Given the description of an element on the screen output the (x, y) to click on. 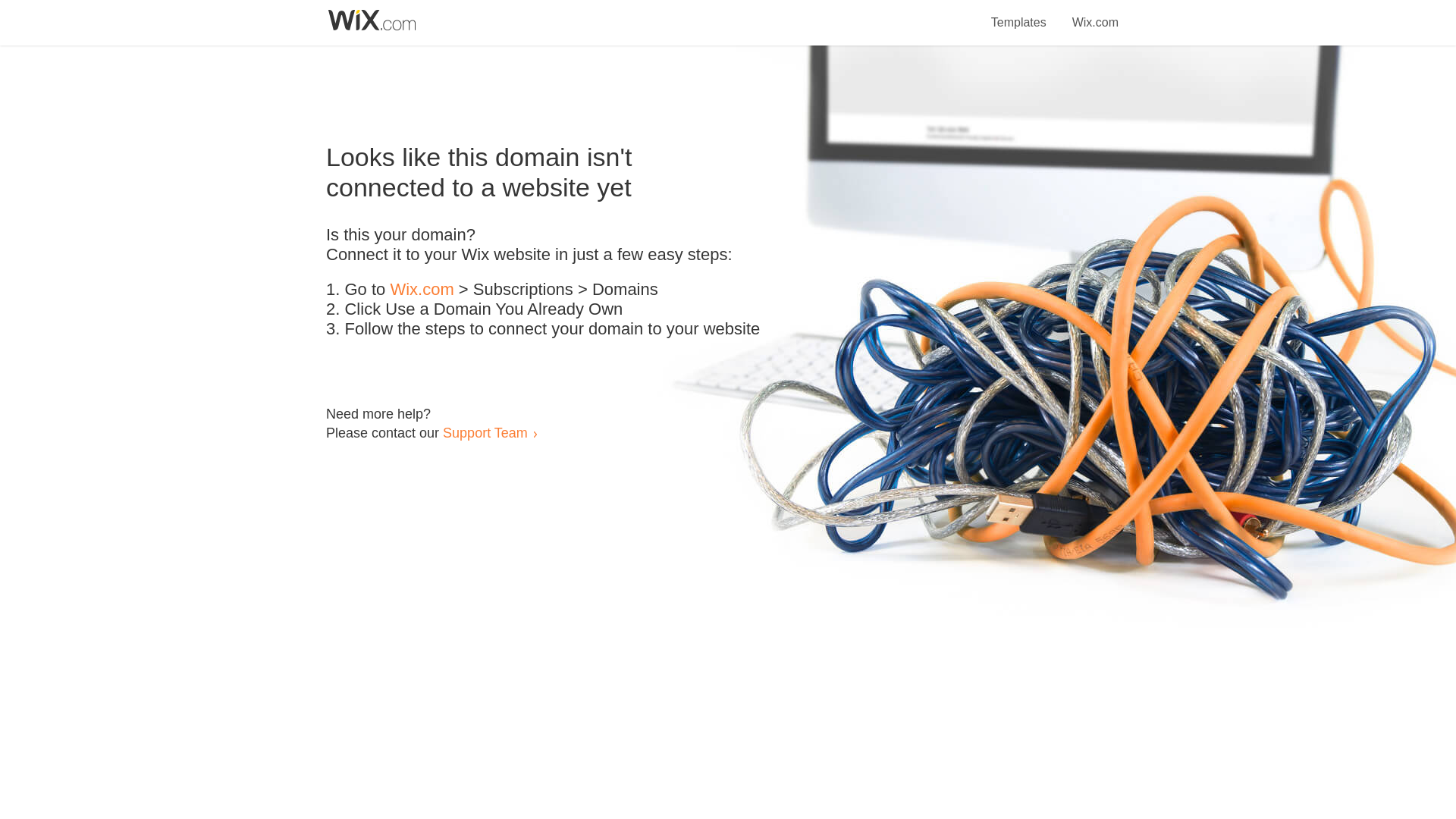
Wix.com (1095, 14)
Templates (1018, 14)
Wix.com (421, 289)
Support Team (484, 432)
